Given the description of an element on the screen output the (x, y) to click on. 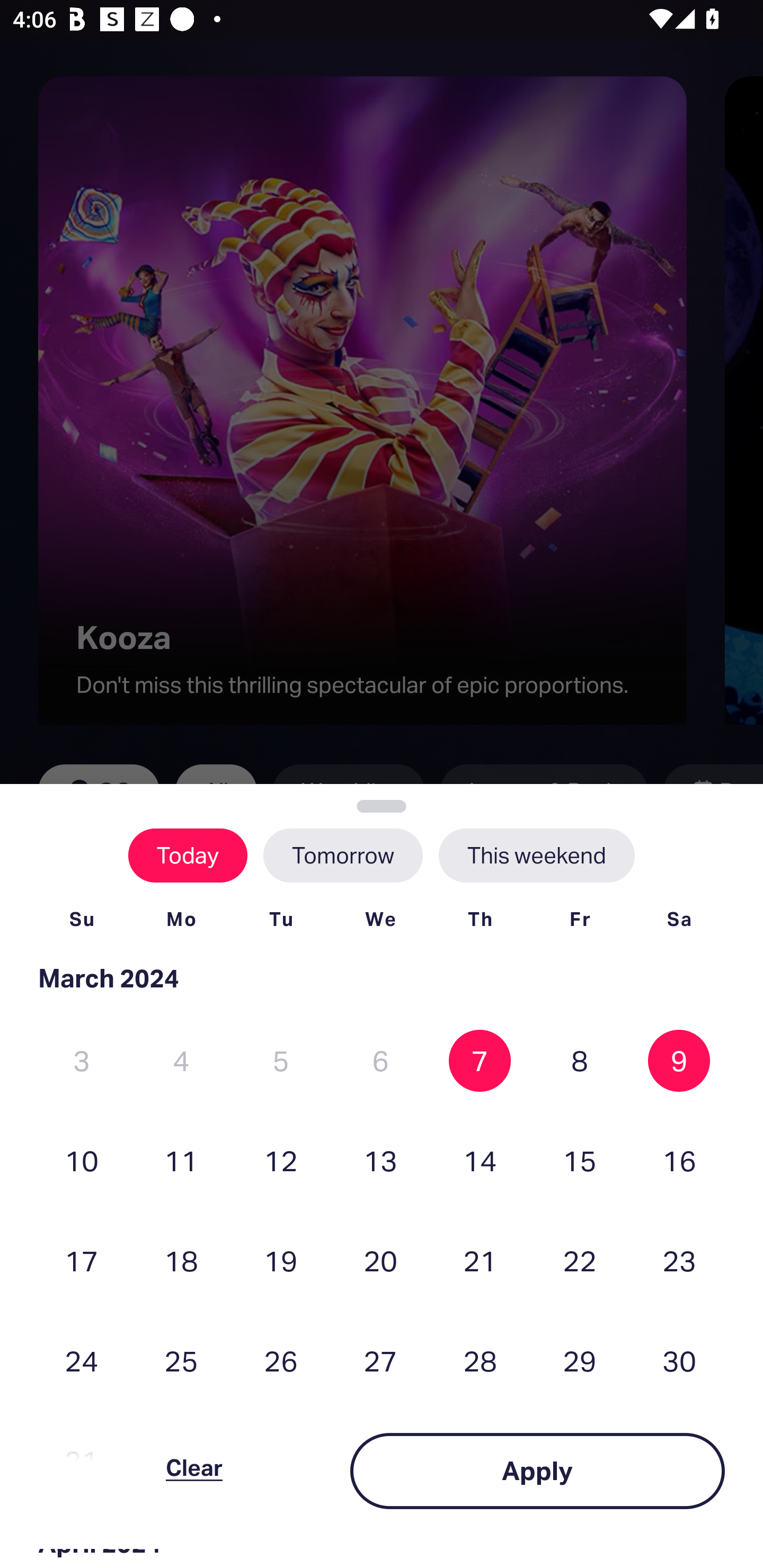
Today (187, 854)
Tomorrow (342, 854)
This weekend (536, 854)
3 (81, 1060)
4 (181, 1060)
5 (280, 1060)
6 (380, 1060)
7 (479, 1060)
8 (579, 1060)
9 (678, 1060)
10 (81, 1160)
11 (181, 1160)
12 (280, 1160)
13 (380, 1160)
14 (479, 1160)
15 (579, 1160)
16 (678, 1160)
17 (81, 1260)
18 (181, 1260)
19 (280, 1260)
20 (380, 1260)
21 (479, 1260)
22 (579, 1260)
23 (678, 1260)
24 (81, 1360)
25 (181, 1360)
26 (280, 1360)
27 (380, 1360)
28 (479, 1360)
29 (579, 1360)
30 (678, 1360)
Clear (194, 1470)
Apply (537, 1470)
